Given the description of an element on the screen output the (x, y) to click on. 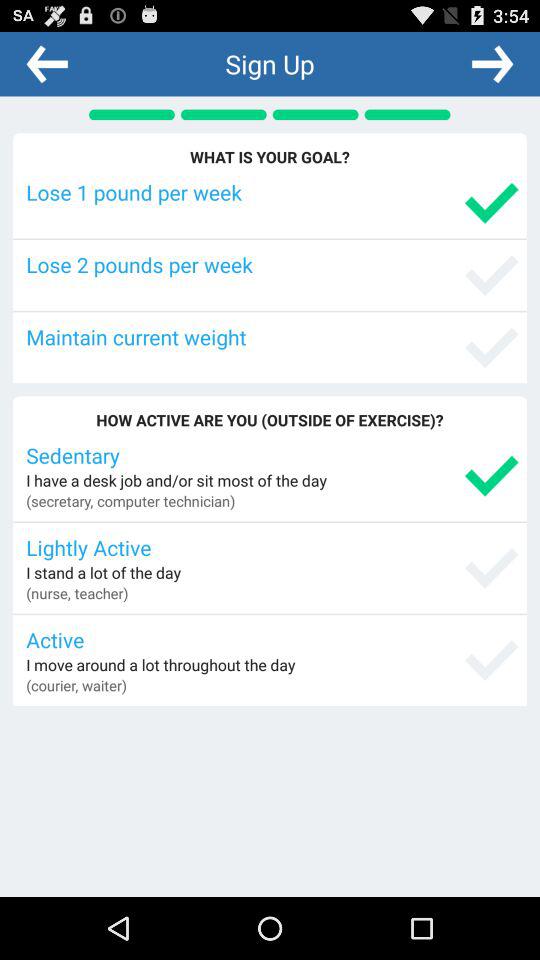
turn on app below what is your (272, 191)
